Given the description of an element on the screen output the (x, y) to click on. 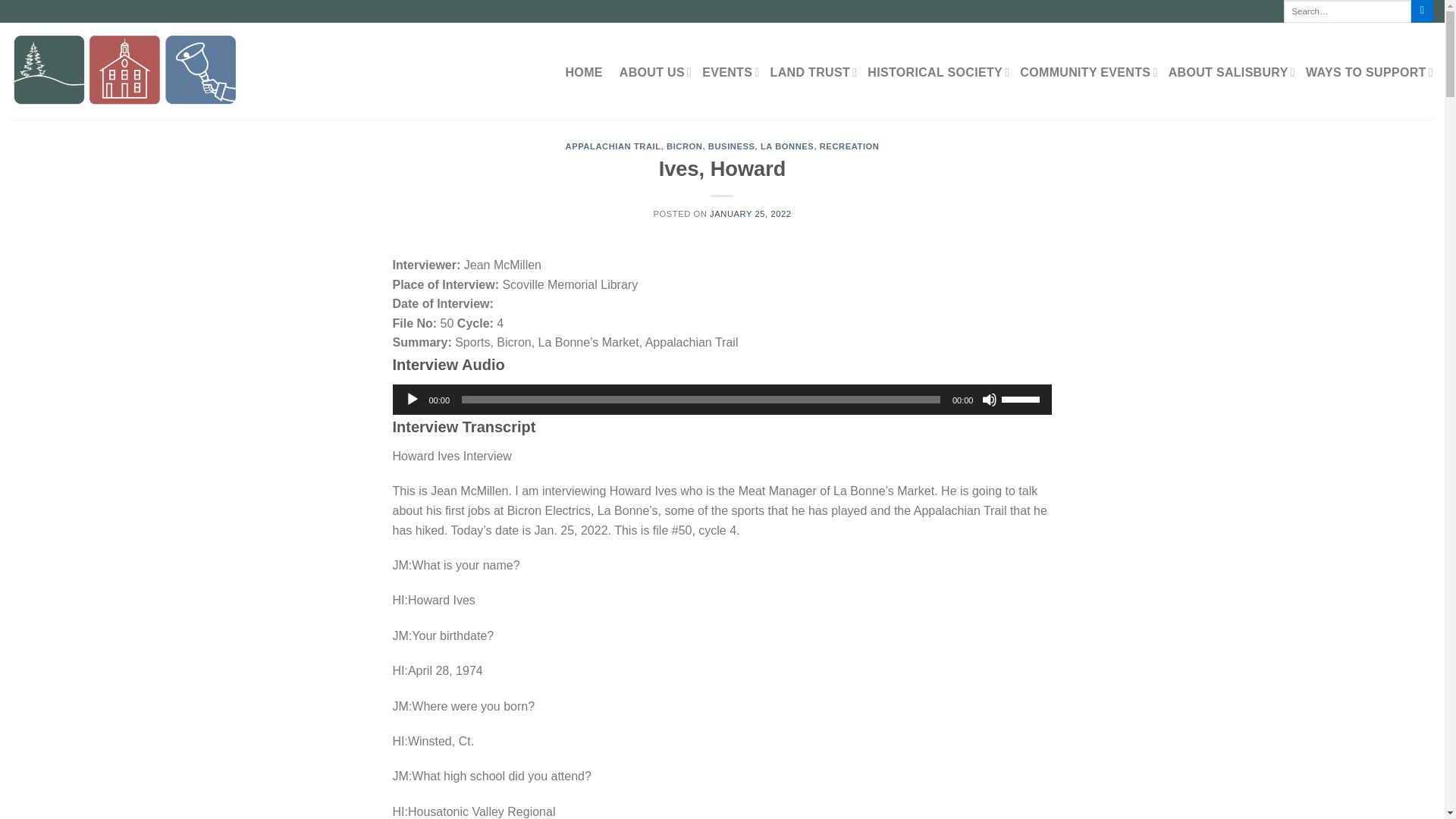
Salisbury Association Site (142, 70)
EVENTS (729, 72)
HOME (584, 72)
HISTORICAL SOCIETY (938, 72)
Play (412, 399)
LAND TRUST (813, 72)
ABOUT US (655, 72)
Mute (989, 399)
COMMUNITY EVENTS (1088, 72)
